Given the description of an element on the screen output the (x, y) to click on. 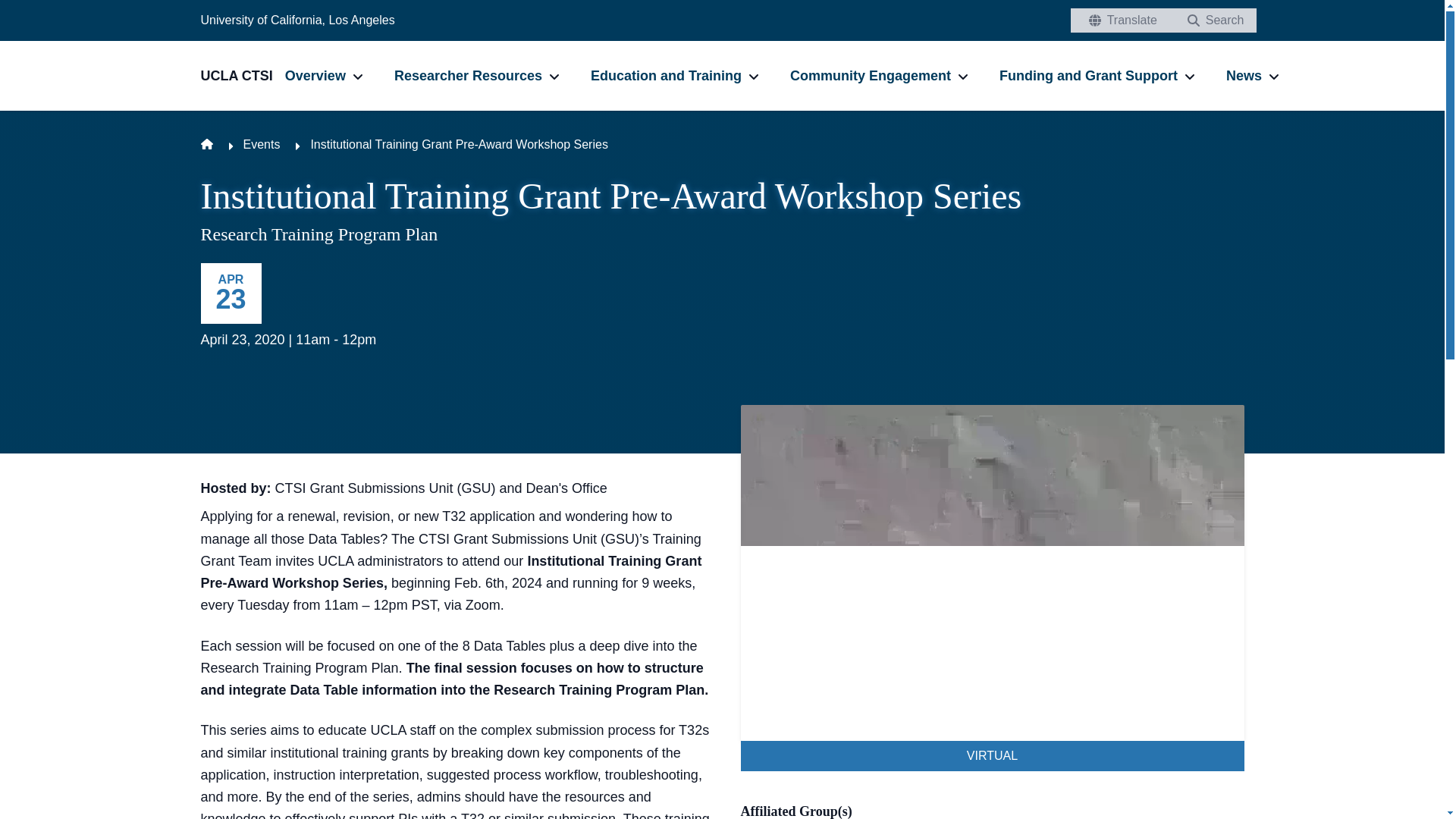
Translate (1119, 20)
Search (1212, 20)
University of California, Los Angeles (296, 20)
UCLA CTSI (241, 75)
Overview sub-navigation (357, 75)
